Given the description of an element on the screen output the (x, y) to click on. 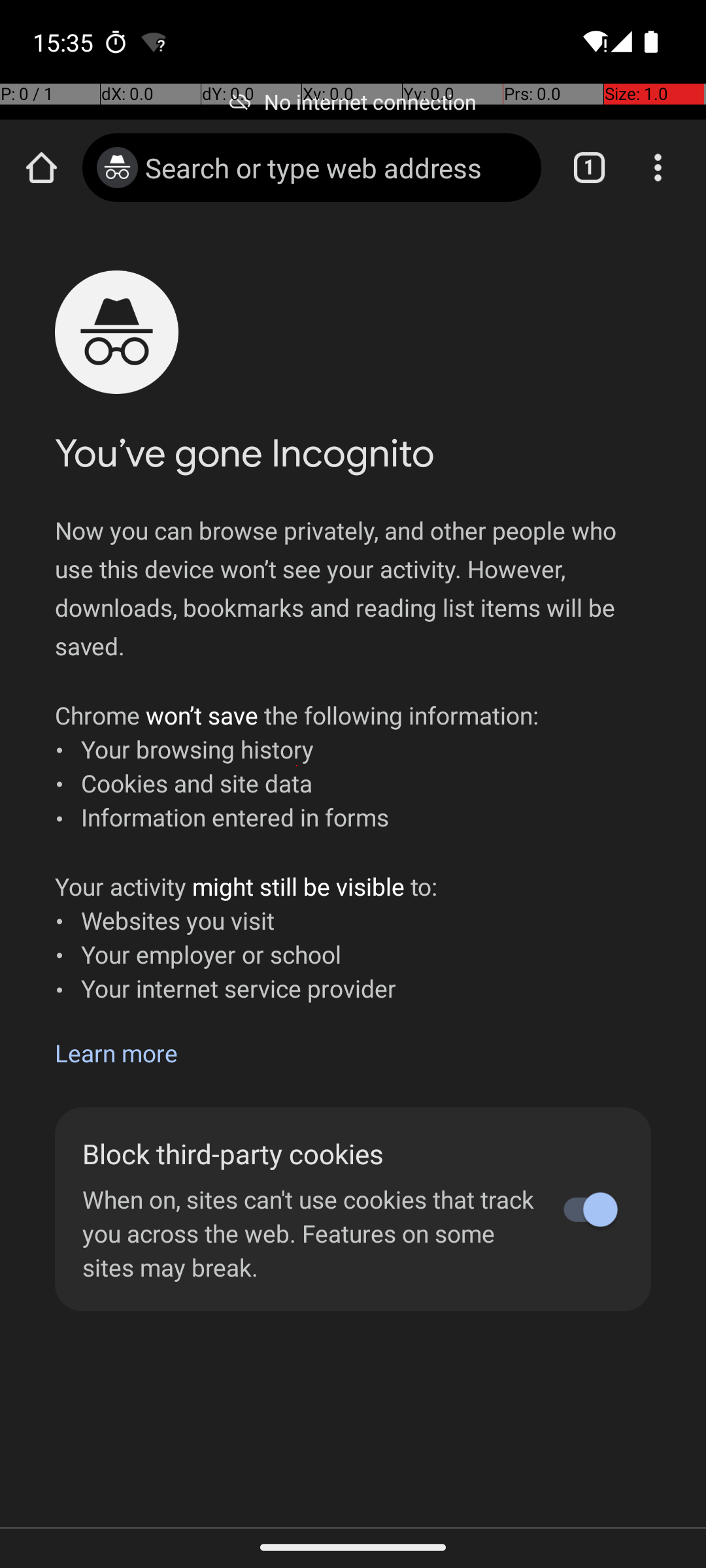
New Incognito tab Element type: android.widget.FrameLayout (353, 870)
Incognito mode Element type: android.widget.ImageView (117, 167)
Search or type web address Element type: android.widget.EditText (336, 167)
You’ve gone Incognito Element type: android.widget.TextView (244, 453)
Now you can browse privately, and other people who use this device won’t see your activity. However, downloads, bookmarks and reading list items will be saved. Element type: android.widget.TextView (352, 587)
Chrome won’t save the following information:
Your browsing history
Cookies and site data
Information entered in forms Element type: android.widget.TextView (296, 765)
Your activity might still be visible to:
Websites you visit
Your employer or school
Your internet service provider Element type: android.widget.TextView (245, 936)
Learn more Element type: android.widget.TextView (115, 1053)
Block third-party cookies Element type: android.widget.TextView (311, 1153)
When on, sites can't use cookies that track you across the web. Features on some sites may break. Element type: android.widget.TextView (311, 1232)
